Given the description of an element on the screen output the (x, y) to click on. 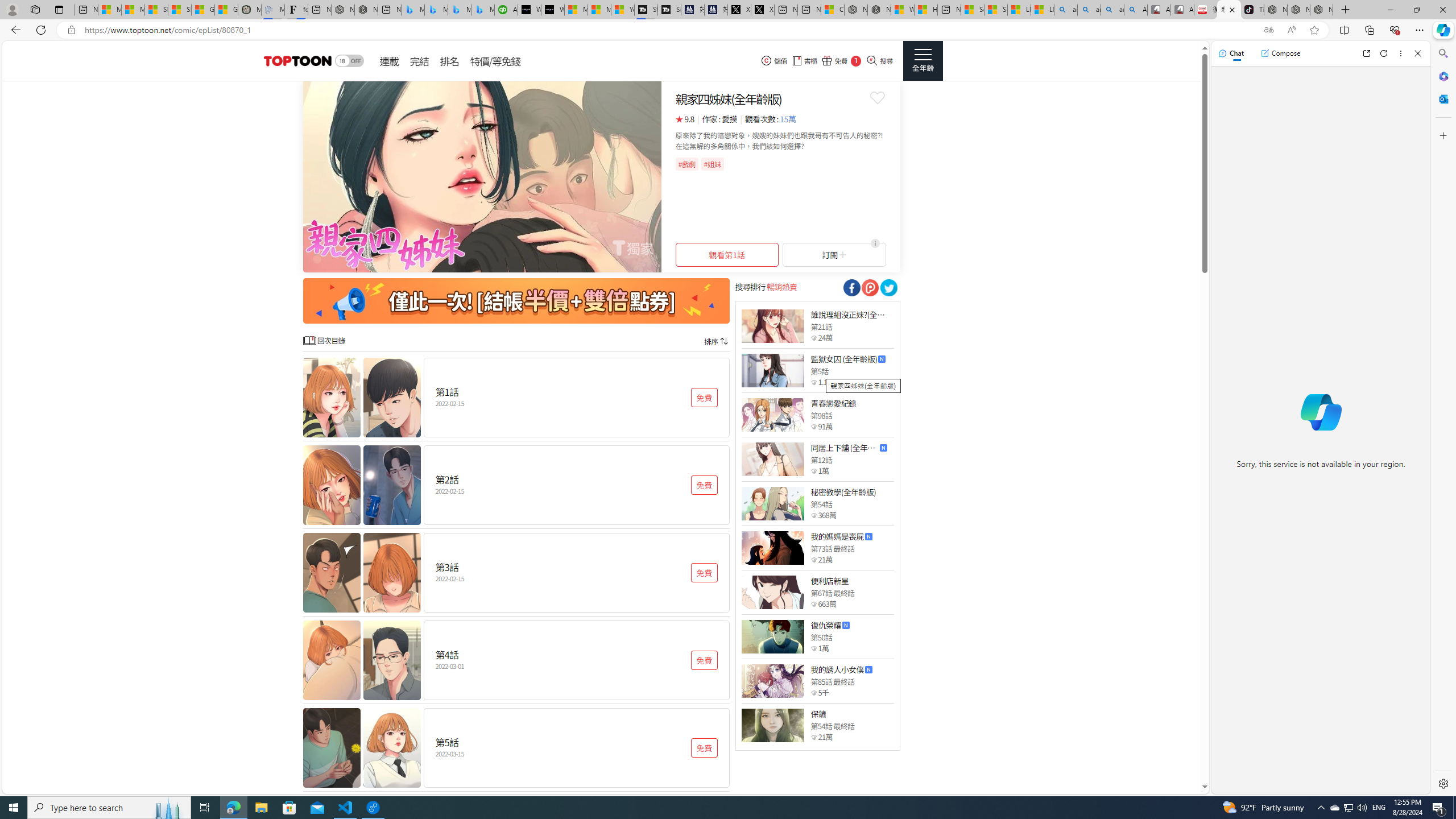
header (295, 60)
Class:  switch_18mode actionAdultBtn (349, 60)
App bar (728, 29)
Nordace - Best Sellers (1275, 9)
Show translate options (1268, 29)
